Given the description of an element on the screen output the (x, y) to click on. 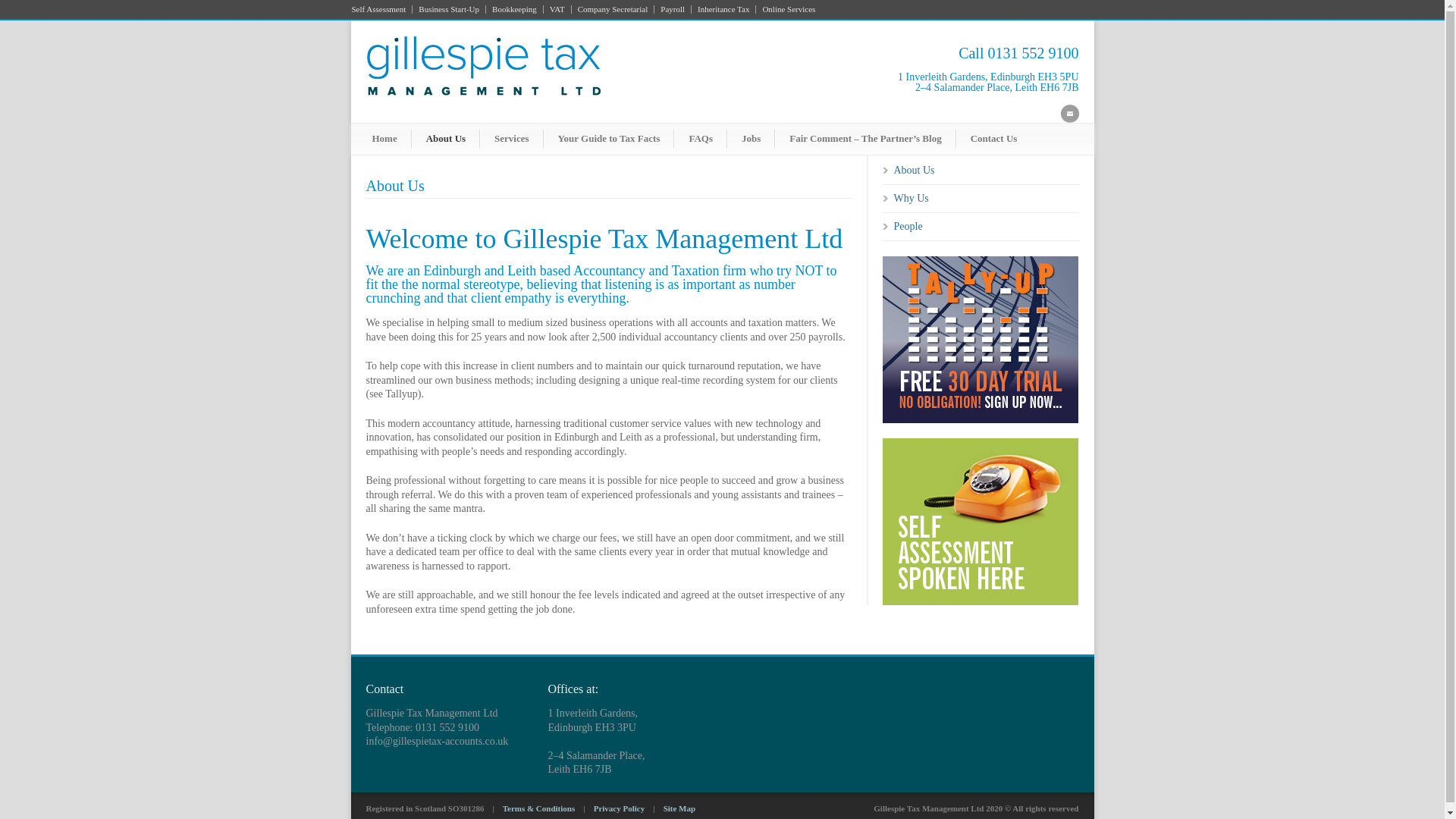
Why Us (910, 197)
Jobs (750, 138)
VAT (557, 8)
About Us (446, 138)
Home (384, 138)
About Us (913, 170)
Your Guide to Tax Facts (609, 138)
Bookkeeping (514, 8)
Self Assessment (382, 8)
FAQs (700, 138)
Services (511, 138)
People (907, 225)
Payroll (672, 8)
Inheritance Tax (723, 8)
Online Services (785, 8)
